Given the description of an element on the screen output the (x, y) to click on. 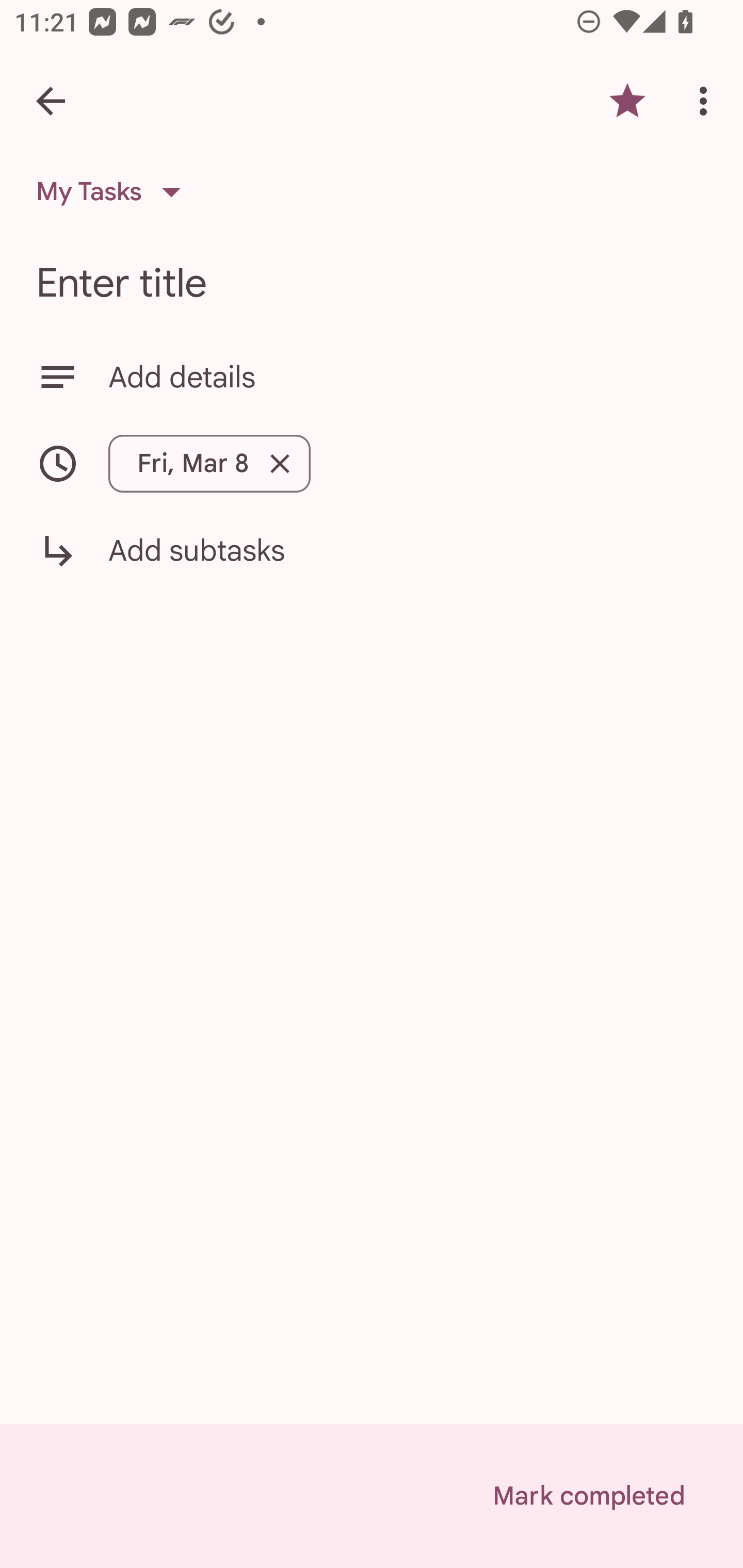
Back (50, 101)
Remove star (626, 101)
More options (706, 101)
My Tasks List, My Tasks selected, 1 of 5 (114, 191)
Enter title (371, 283)
Add details (371, 376)
Add details (407, 376)
Fri, Mar 8 Remove date/time (371, 463)
Fri, Mar 8 Remove date/time (209, 463)
Add subtasks (371, 564)
Mark completed (588, 1495)
